Given the description of an element on the screen output the (x, y) to click on. 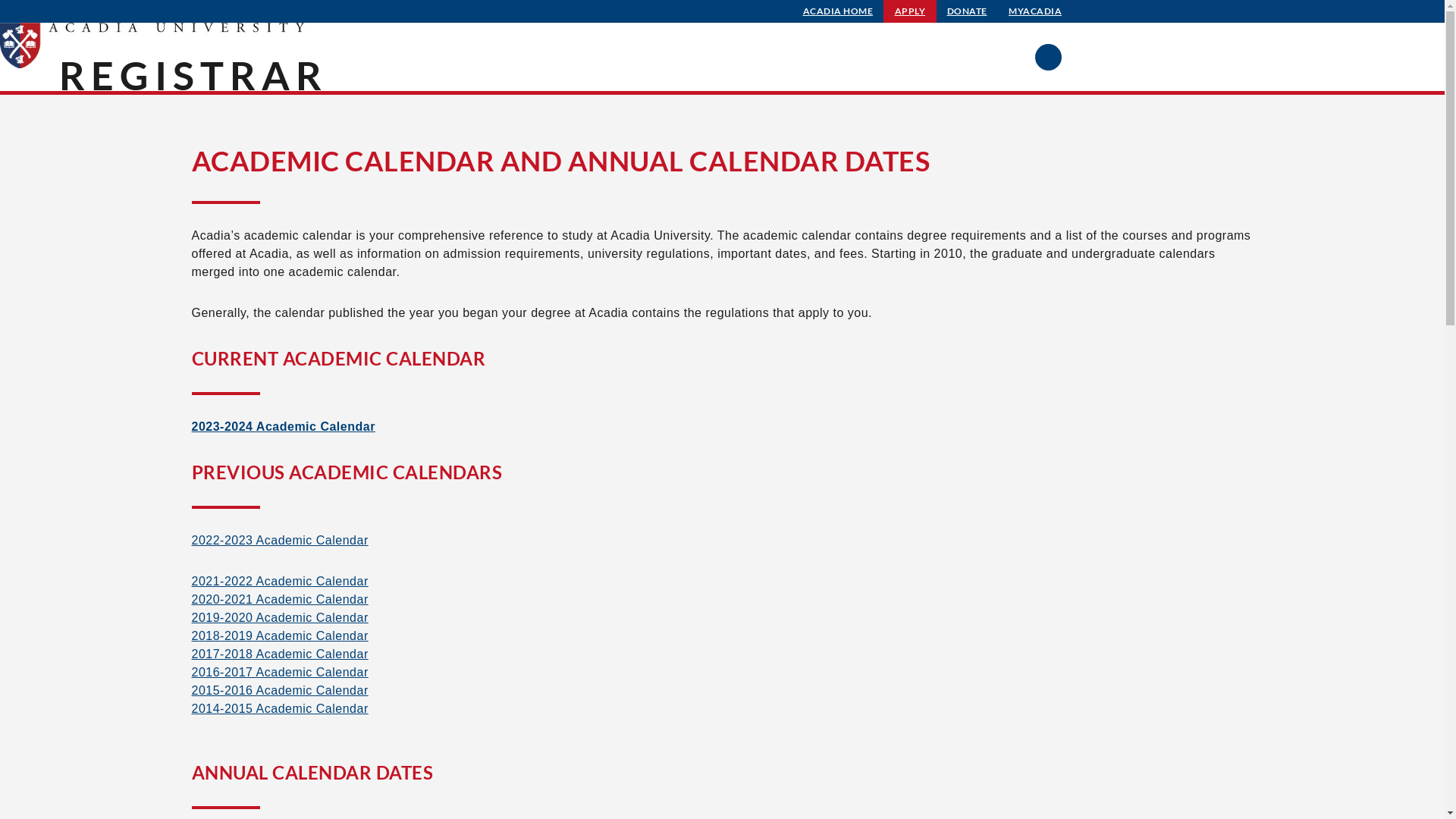
2019-2020 Academic Calendar Element type: text (279, 617)
DONATE Element type: text (966, 11)
2016-2017 Academic Calendar Element type: text (279, 671)
2021-2022 Academic Calendar Element type: text (279, 580)
2023-2024 Academic Calendar Element type: text (282, 426)
APPLY Element type: text (909, 11)
2014-2015 Academic Calendar Element type: text (279, 708)
MYACADIA Element type: text (1035, 11)
2020-2021 Academic Calendar Element type: text (279, 599)
2017-2018 Academic Calendar Element type: text (279, 653)
REGISTRAR Element type: text (193, 74)
2018-2019 Academic Calendar Element type: text (279, 635)
ACADIA HOME Element type: text (837, 11)
2015-2016 Academic Calendar Element type: text (279, 690)
2022-2023 Academic Calendar Element type: text (279, 539)
